Given the description of an element on the screen output the (x, y) to click on. 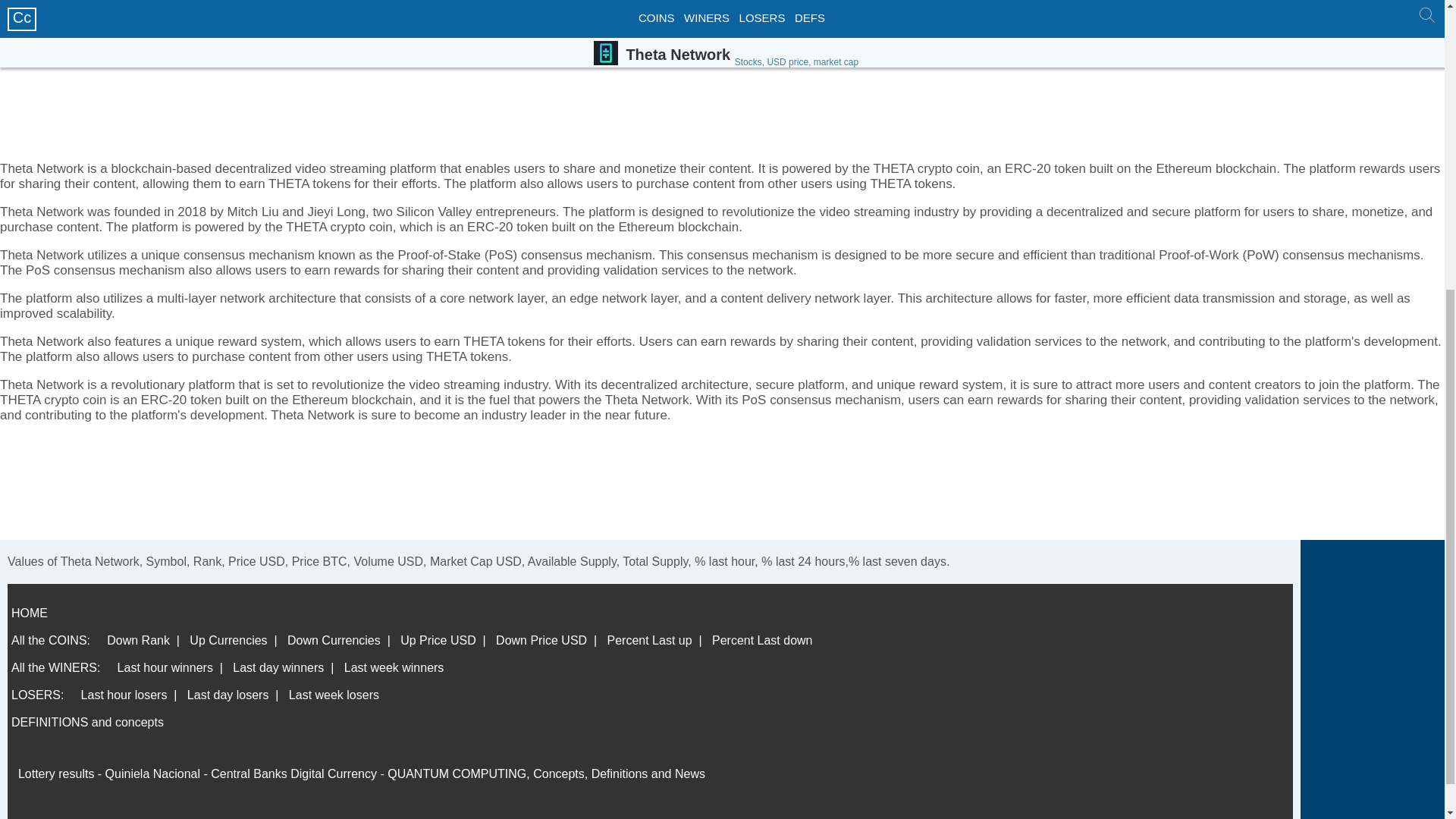
Last hour losers (124, 694)
Last hour losers (124, 694)
winners (37, 694)
Percent Last up (650, 640)
Up Price USD (438, 640)
Last day winners (277, 667)
Up Currencies (227, 640)
All the winners (55, 667)
Last day losers (228, 694)
Last day winners (277, 667)
